Given the description of an element on the screen output the (x, y) to click on. 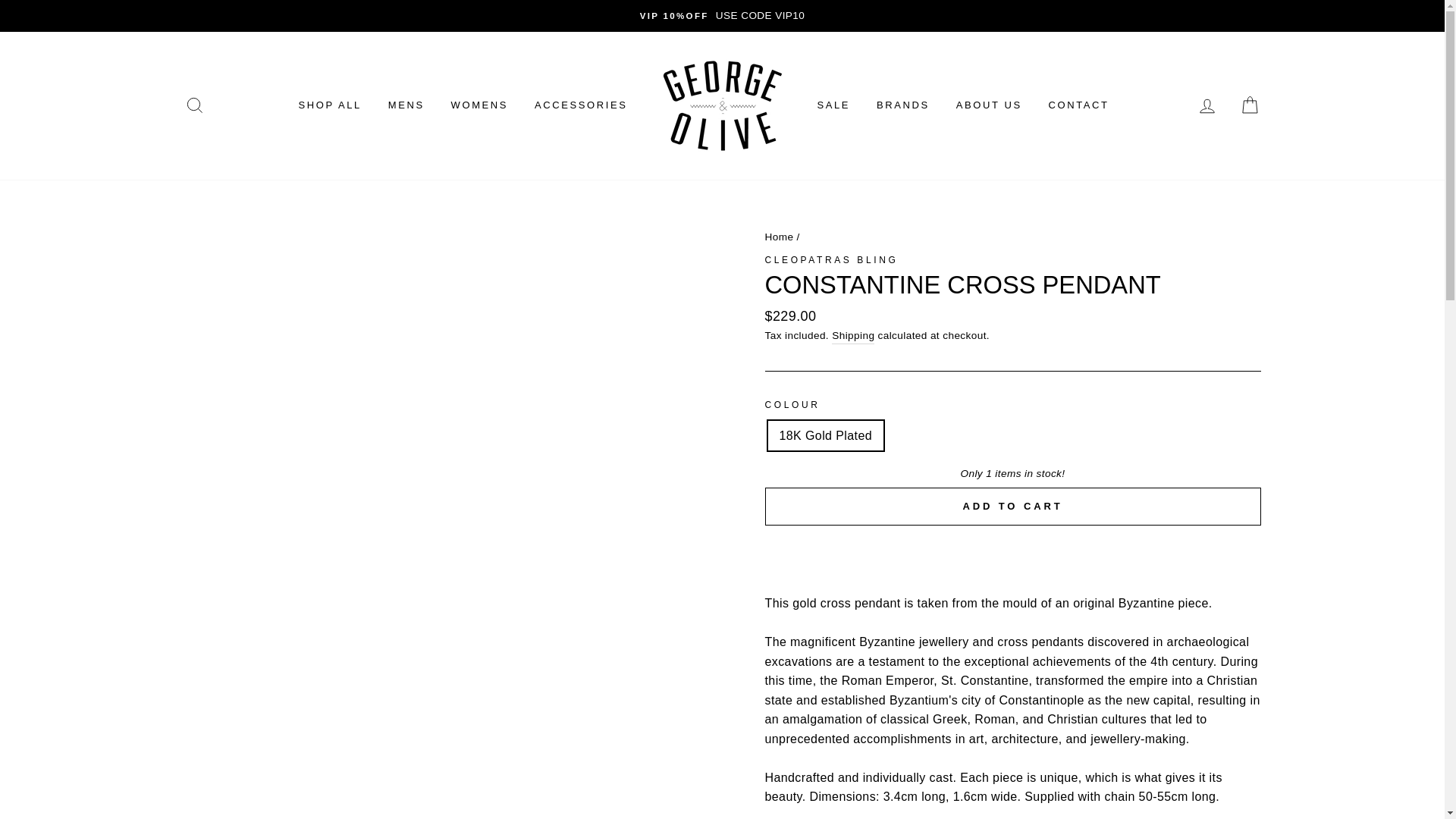
Back to the frontpage (778, 236)
